Given the description of an element on the screen output the (x, y) to click on. 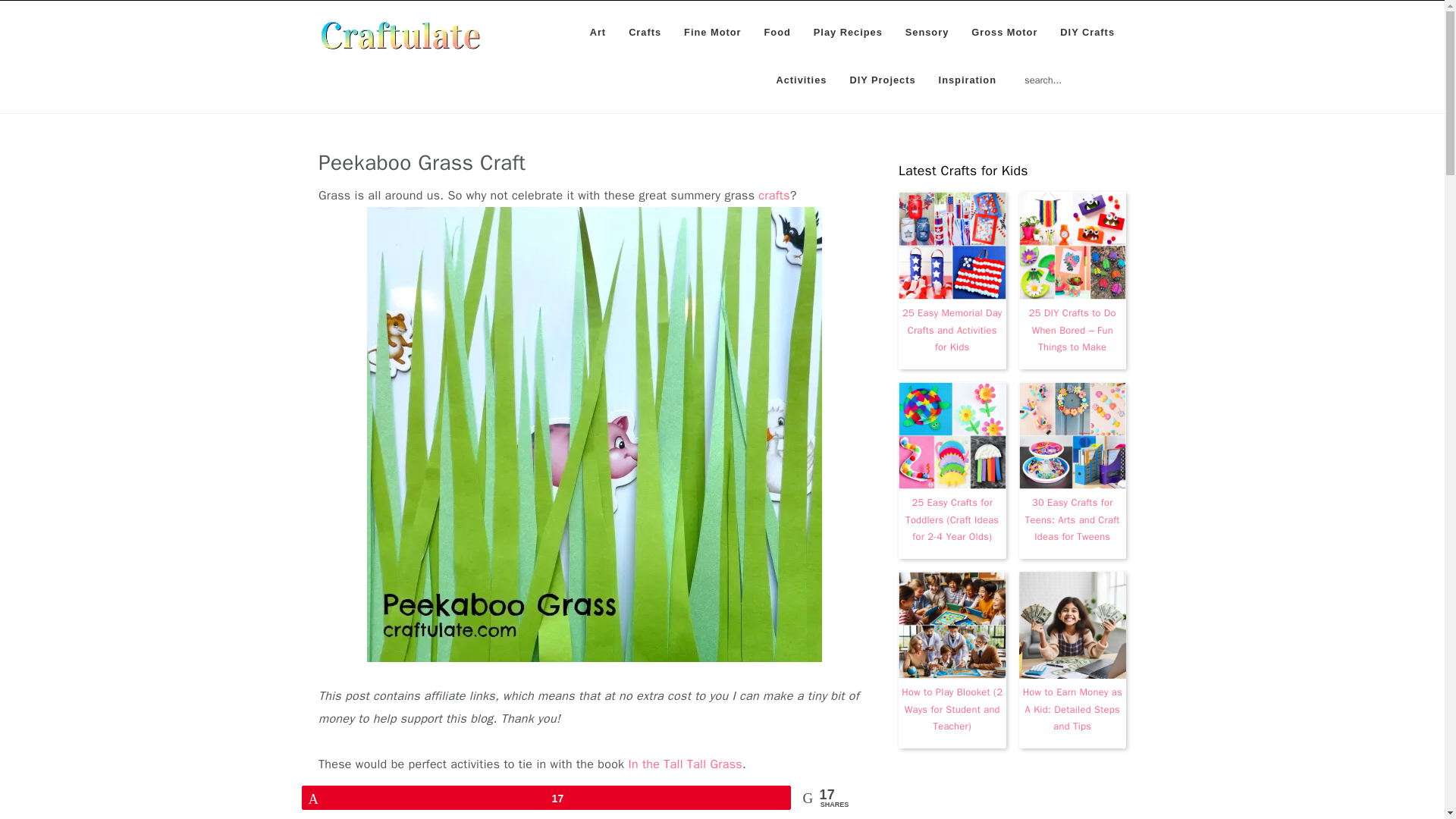
Crafts (644, 32)
Search (1128, 71)
Inspiration (967, 80)
Food (777, 32)
Gross Motor (1003, 32)
Craftulate (399, 35)
DIY Crafts (1086, 32)
Play Recipes (847, 32)
Activities (801, 80)
Sensory (926, 32)
DIY Projects (882, 80)
Fine Motor (712, 32)
Search (1128, 71)
